Given the description of an element on the screen output the (x, y) to click on. 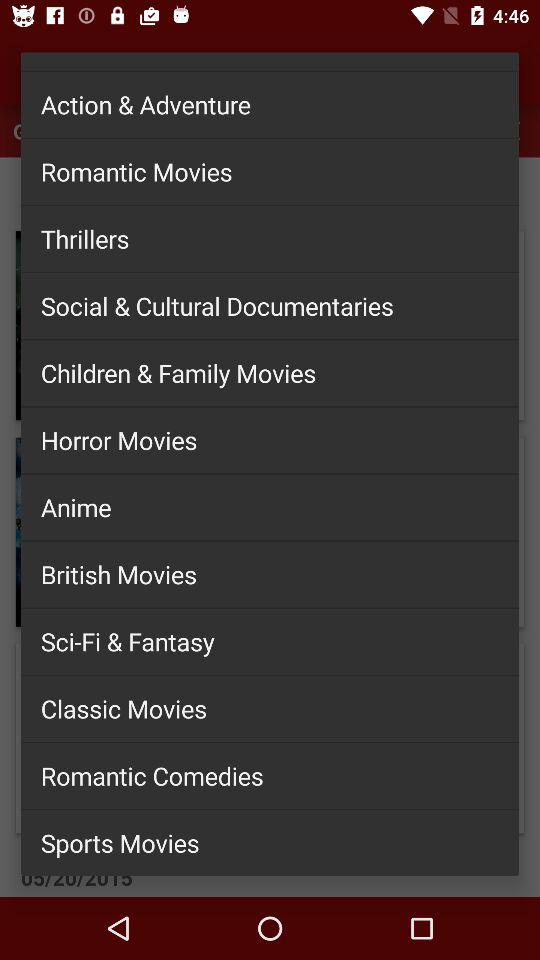
turn on item below    action & adventure icon (269, 171)
